Given the description of an element on the screen output the (x, y) to click on. 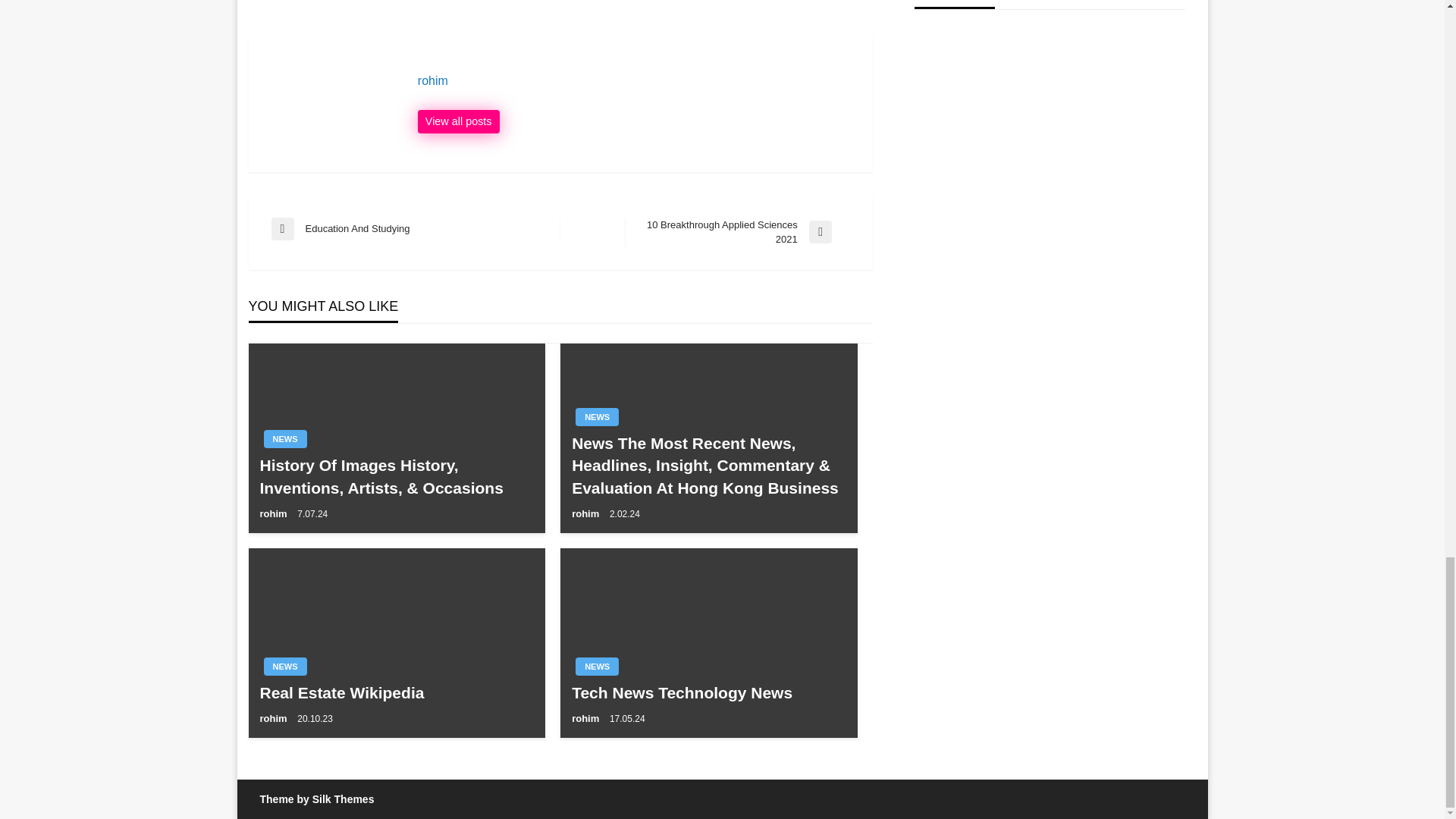
rohim (458, 121)
rohim (274, 717)
NEWS (596, 416)
rohim (587, 717)
Tech News Technology News (708, 692)
NEWS (285, 438)
rohim (637, 80)
rohim (587, 513)
Real Estate Wikipedia (737, 232)
View all posts (396, 692)
rohim (458, 121)
NEWS (637, 80)
rohim (415, 228)
